Given the description of an element on the screen output the (x, y) to click on. 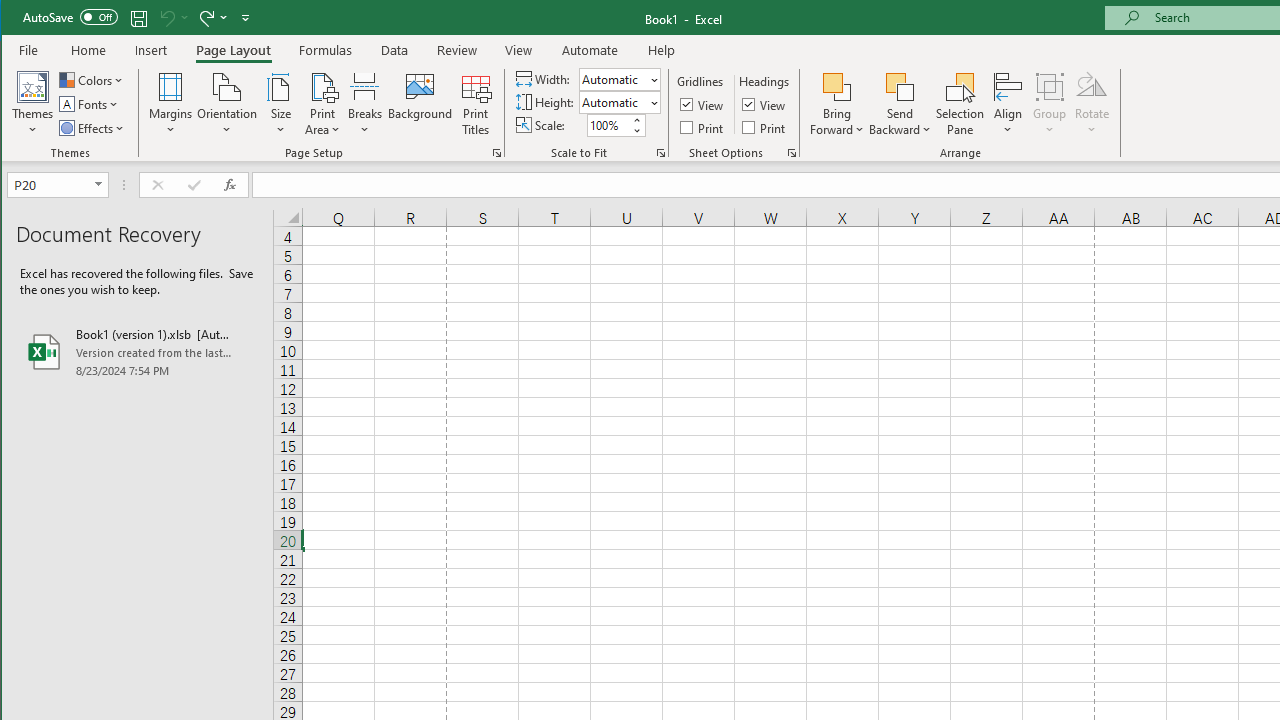
Size (280, 104)
Fonts (90, 103)
Scale (607, 125)
Customize Quick Access Toolbar (245, 17)
Orientation (226, 104)
Less (636, 130)
View (518, 50)
Themes (33, 104)
Insert (151, 50)
